Given the description of an element on the screen output the (x, y) to click on. 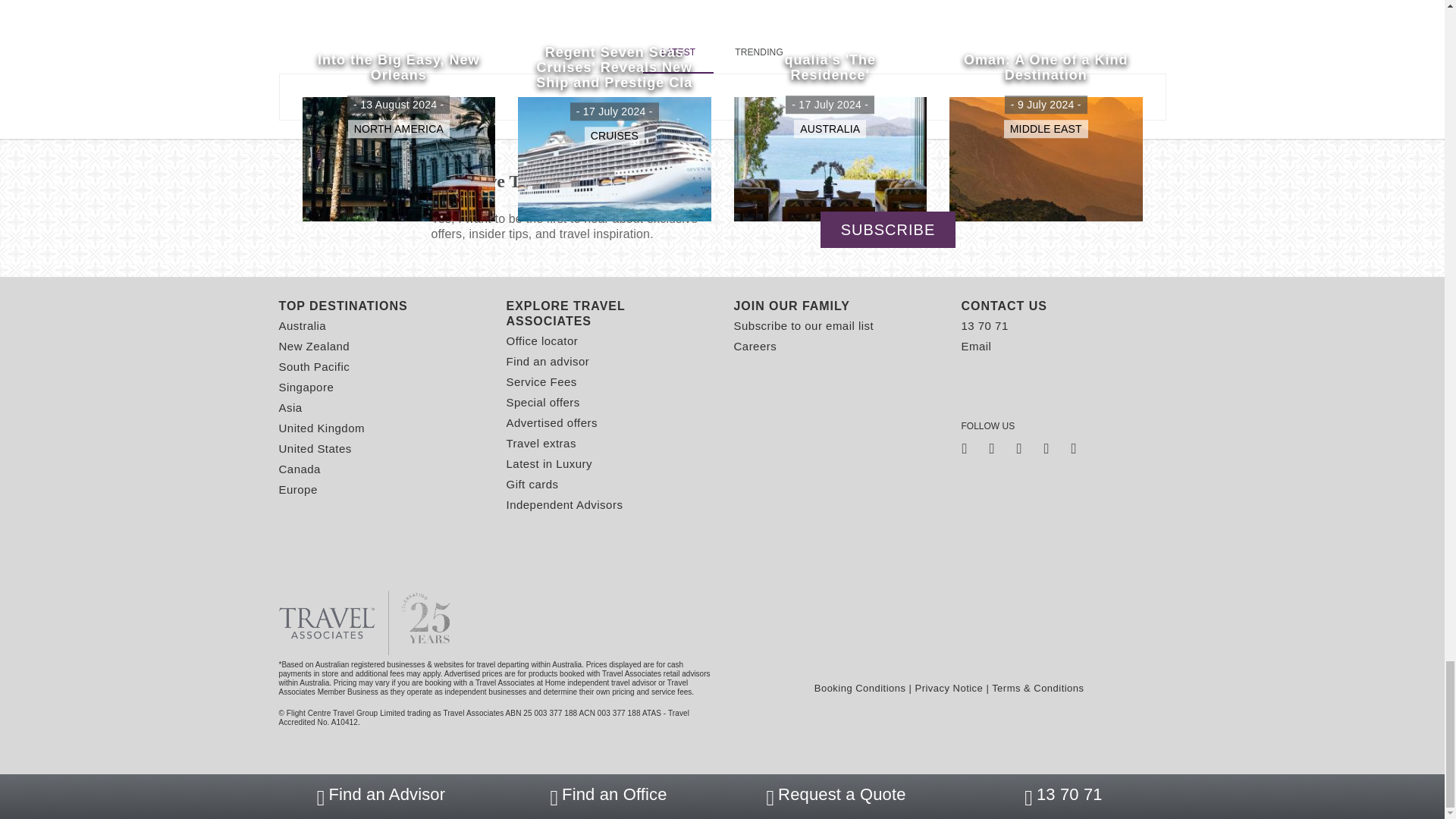
Explore Travel Associates (608, 313)
Top Destinations (381, 305)
Contact Us (1063, 305)
Join our family (836, 305)
